Given the description of an element on the screen output the (x, y) to click on. 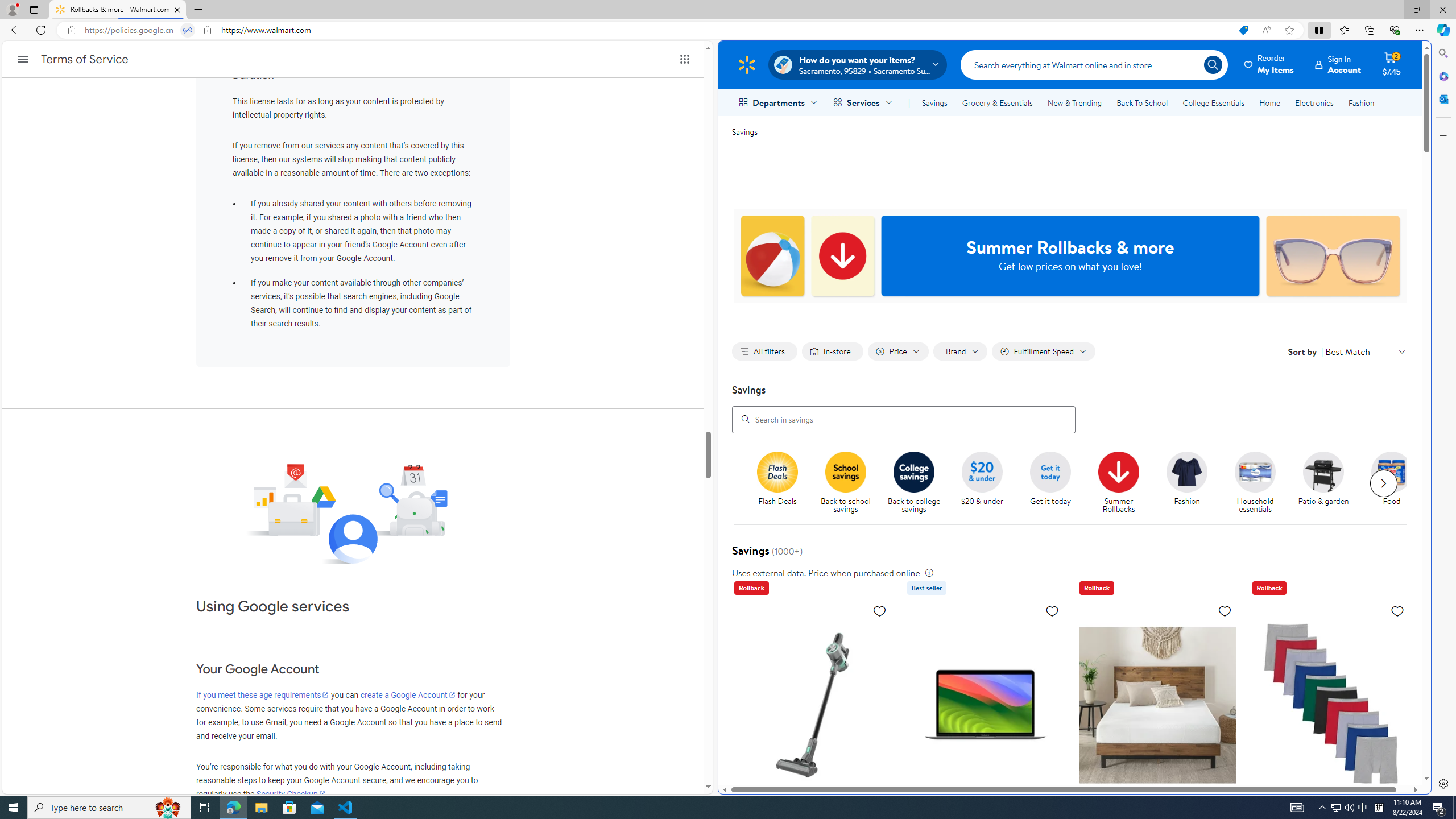
Filter by Brand not applied, activate to change (960, 351)
Minimize (1390, 9)
College Essentials (1213, 102)
Cart contains 2 items Total Amount $7.45 (1391, 64)
Food (1391, 471)
Savings (744, 131)
Search in savings (903, 419)
ReorderMy Items (1269, 64)
New Tab (198, 9)
Search icon (1212, 64)
Sort by Best Match (1366, 351)
legal information (928, 572)
App bar (728, 29)
